Given the description of an element on the screen output the (x, y) to click on. 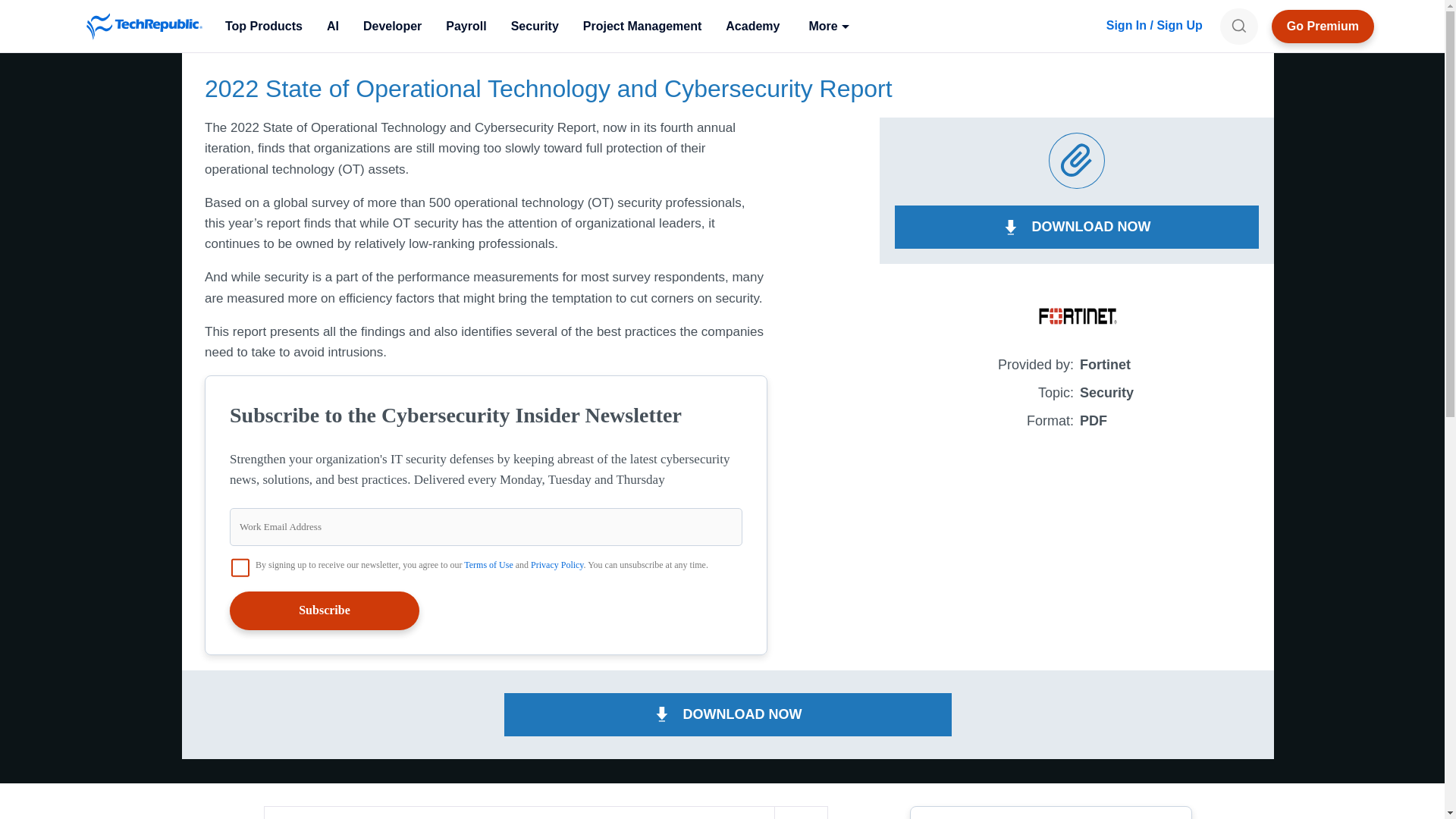
Project Management (641, 26)
Payroll (465, 26)
Academy (752, 26)
Developer (392, 26)
Security (534, 26)
DOWNLOAD NOW (727, 714)
DOWNLOAD NOW (1077, 226)
TechRepublic Premium (1322, 25)
TechRepublic (143, 25)
Top Products (263, 26)
on (239, 567)
Terms of Use (488, 564)
Subscribe (324, 610)
TechRepublic (143, 25)
Go Premium (1322, 25)
